Given the description of an element on the screen output the (x, y) to click on. 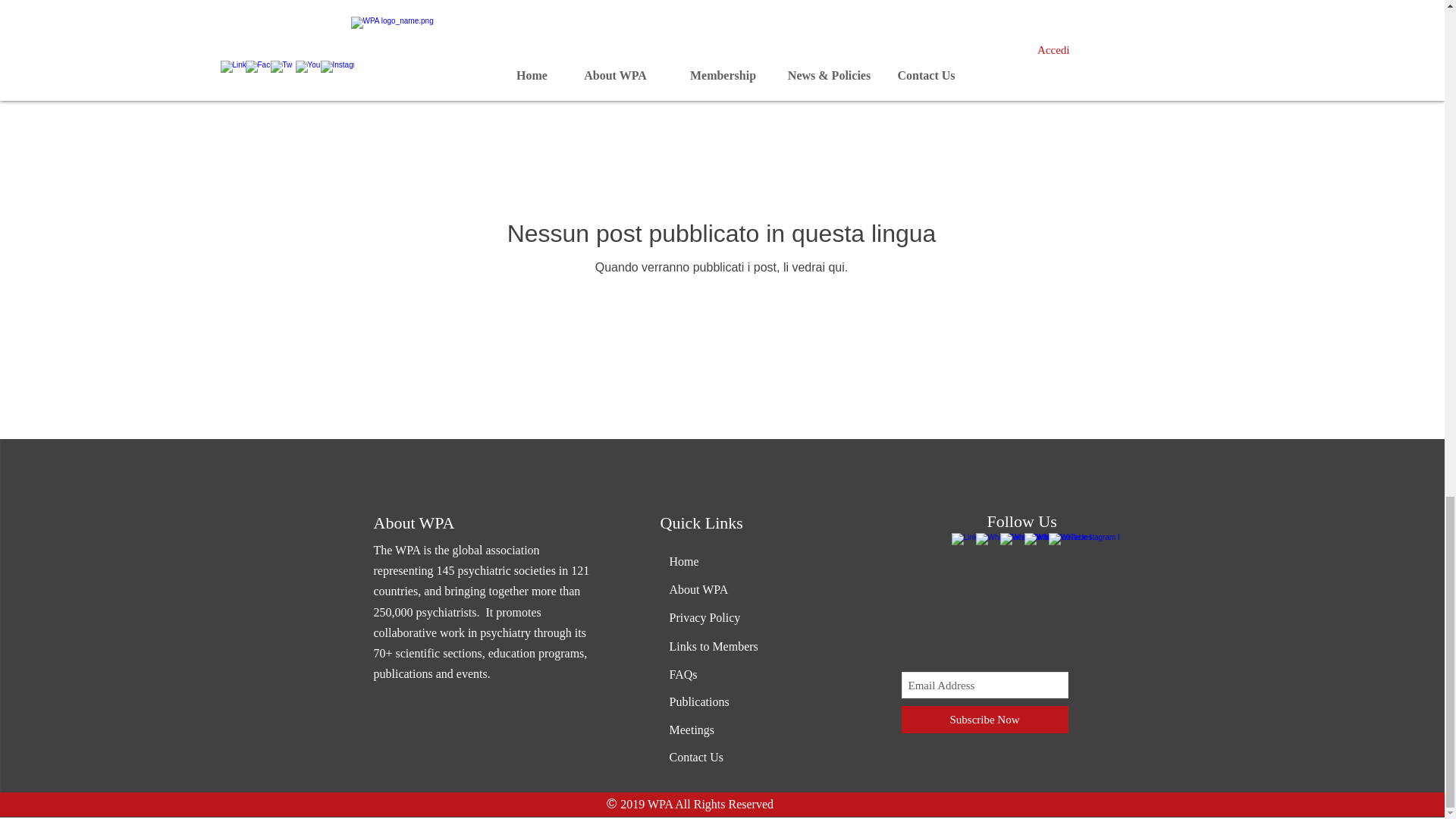
Links to Members (712, 645)
Contact Us (695, 757)
Subscribe Now (984, 719)
Home (683, 561)
Meetings (691, 729)
Privacy Policy (703, 617)
Publications (698, 701)
About WPA (698, 589)
FAQs (682, 674)
